Given the description of an element on the screen output the (x, y) to click on. 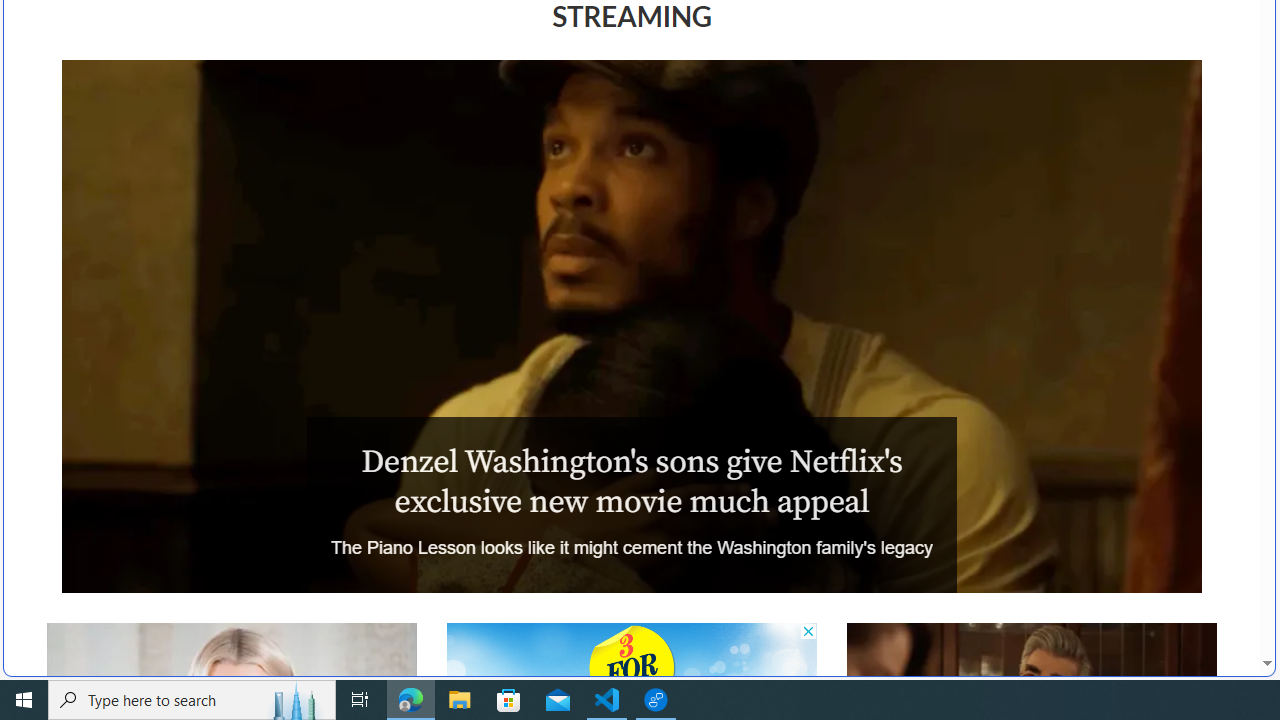
The Piano Lesson (631, 326)
